Given the description of an element on the screen output the (x, y) to click on. 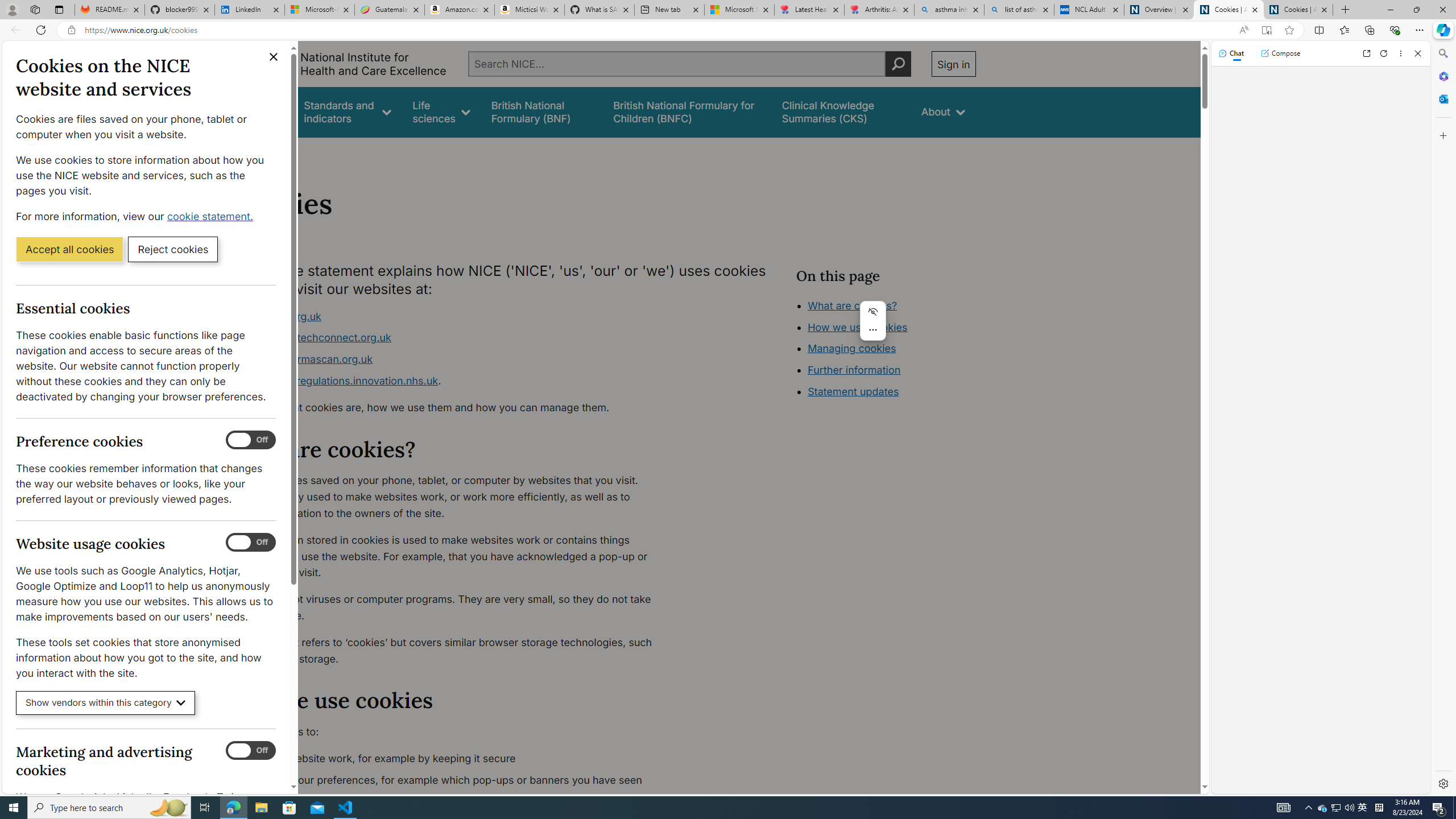
Marketing and advertising cookies (250, 750)
